Given the description of an element on the screen output the (x, y) to click on. 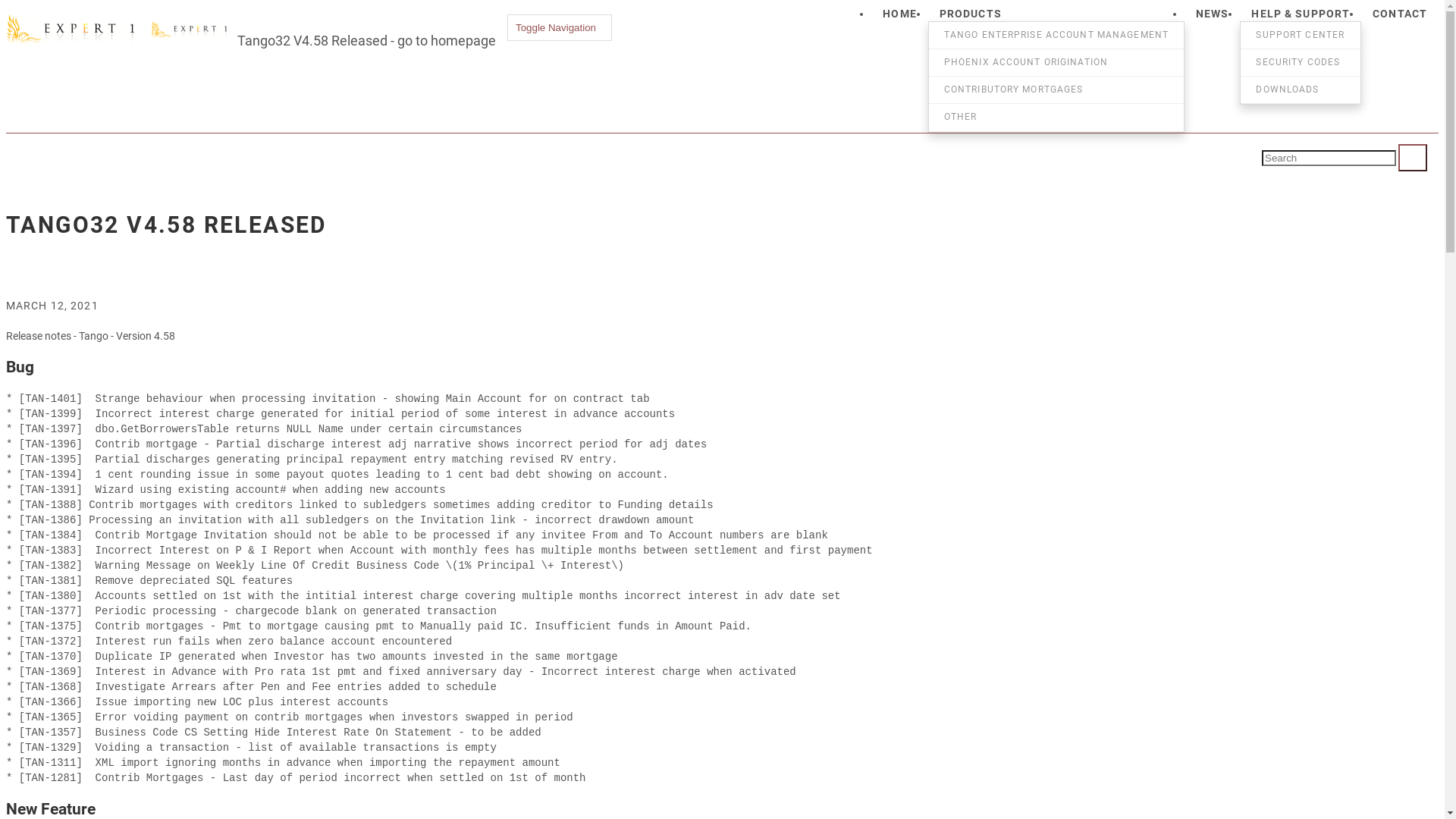
TANGO ENTERPRISE ACCOUNT MANAGEMENT Element type: text (1055, 35)
OTHER Element type: text (1055, 116)
SECURITY CODES Element type: text (1300, 62)
SUPPORT CENTER Element type: text (1300, 35)
PHOENIX ACCOUNT ORIGINATION Element type: text (1055, 62)
Toggle Navigation Element type: text (559, 27)
DOWNLOADS Element type: text (1300, 89)
CONTRIBUTORY MORTGAGES Element type: text (1055, 89)
